Given the description of an element on the screen output the (x, y) to click on. 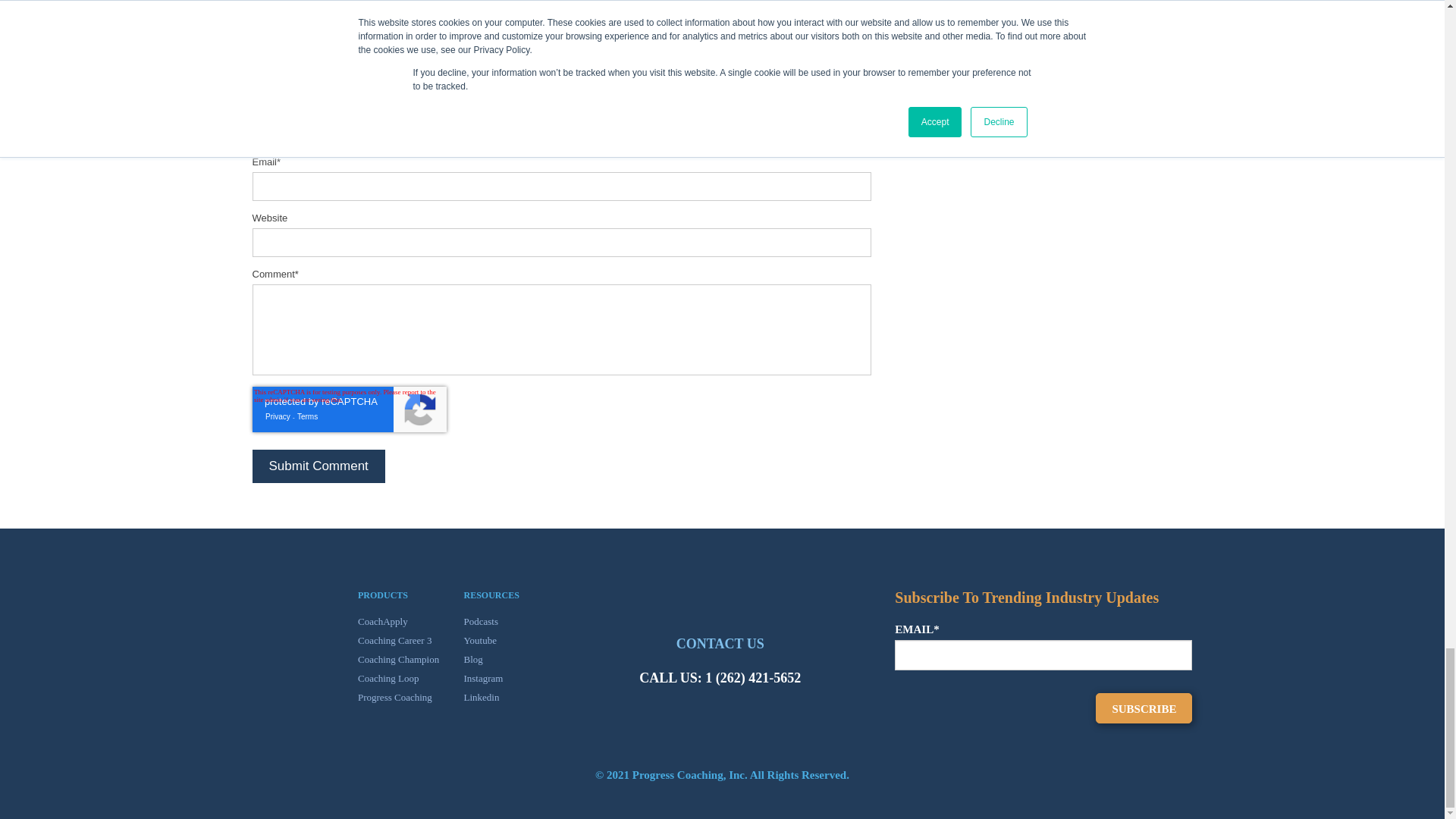
reCAPTCHA (348, 409)
Submit Comment (317, 466)
Submit Comment (317, 466)
Subscribe (1144, 707)
